Given the description of an element on the screen output the (x, y) to click on. 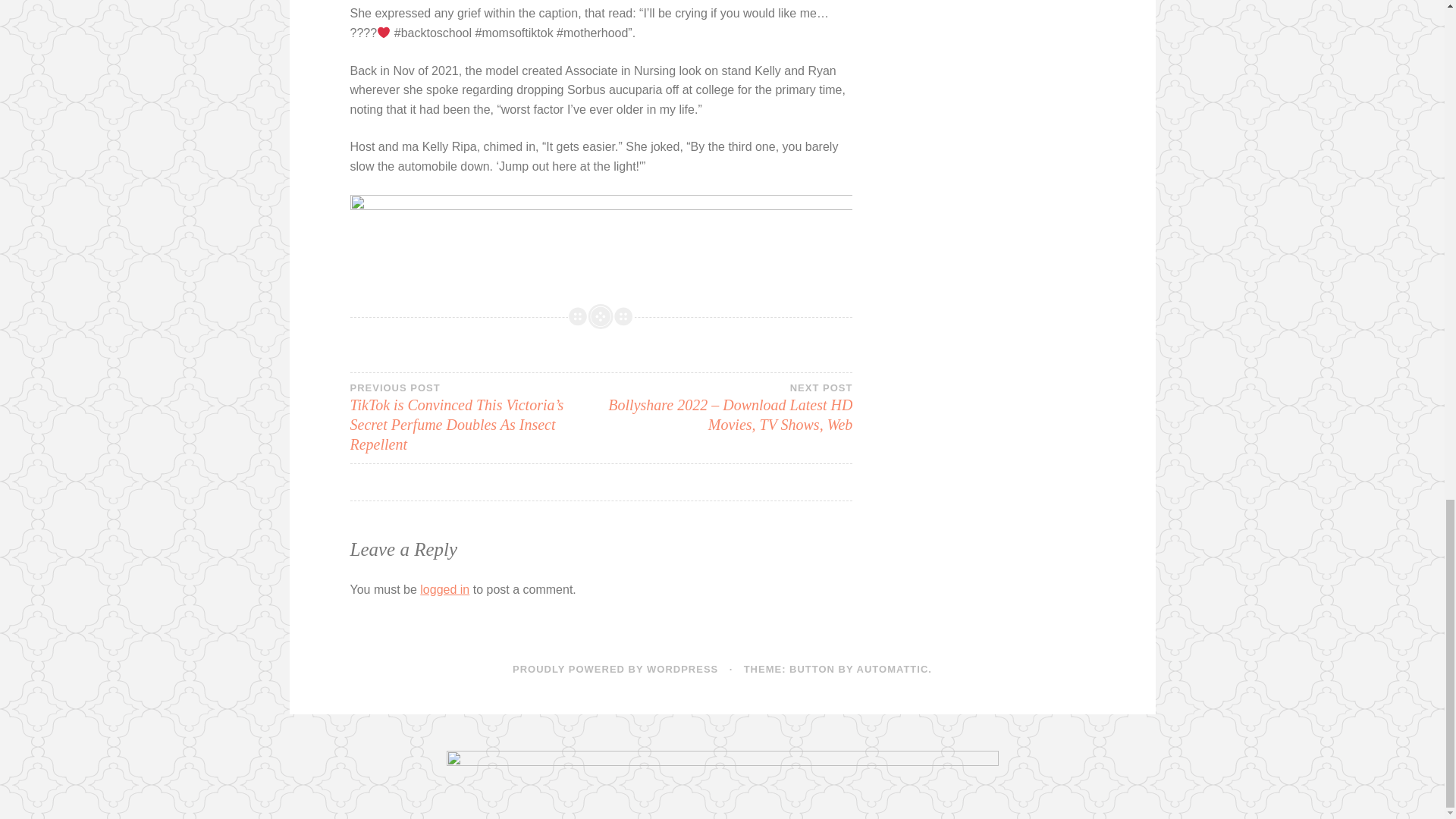
logged in (444, 589)
